Given the description of an element on the screen output the (x, y) to click on. 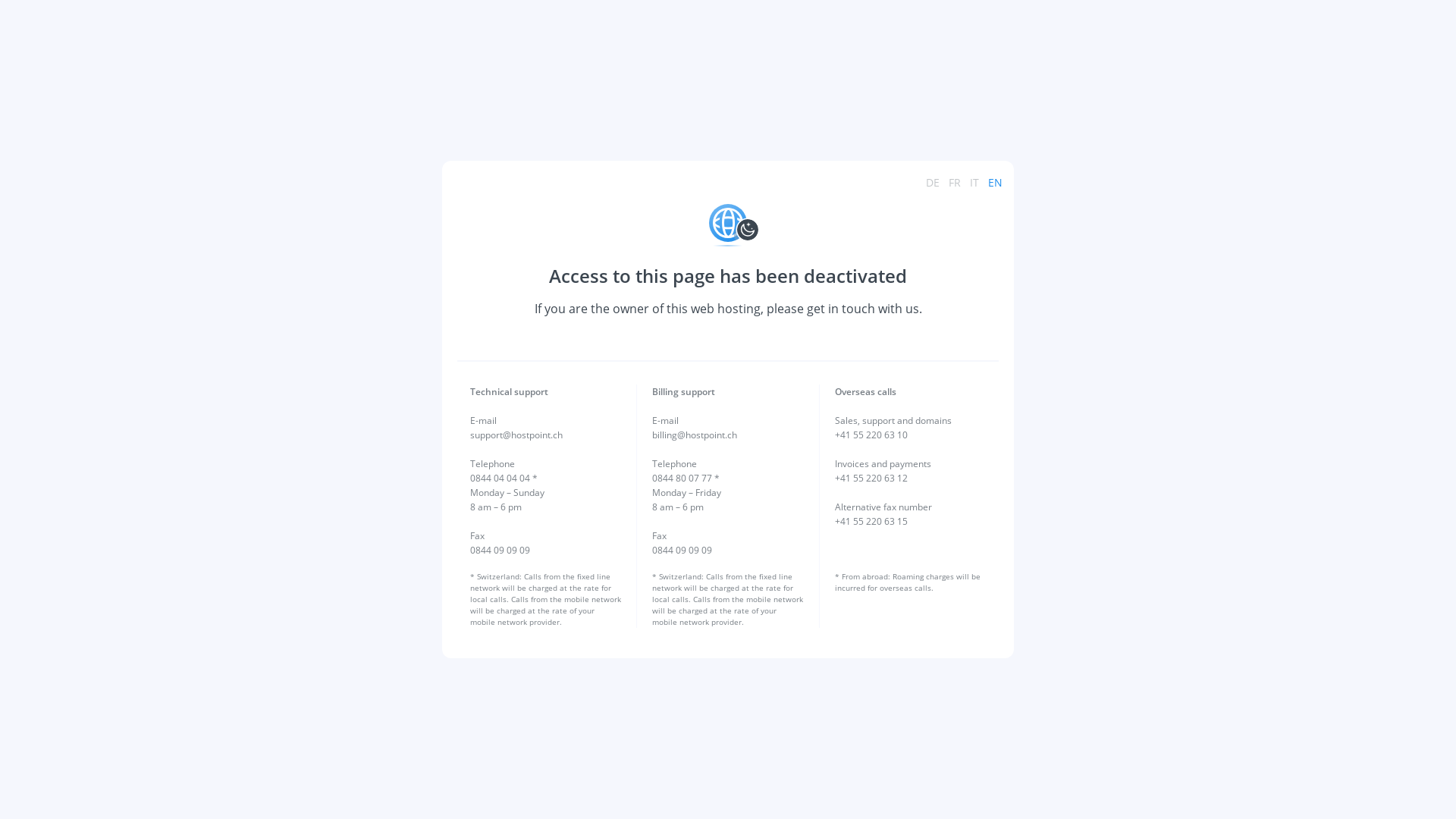
billing@hostpoint.ch Element type: text (694, 434)
support@hostpoint.ch Element type: text (516, 434)
